Given the description of an element on the screen output the (x, y) to click on. 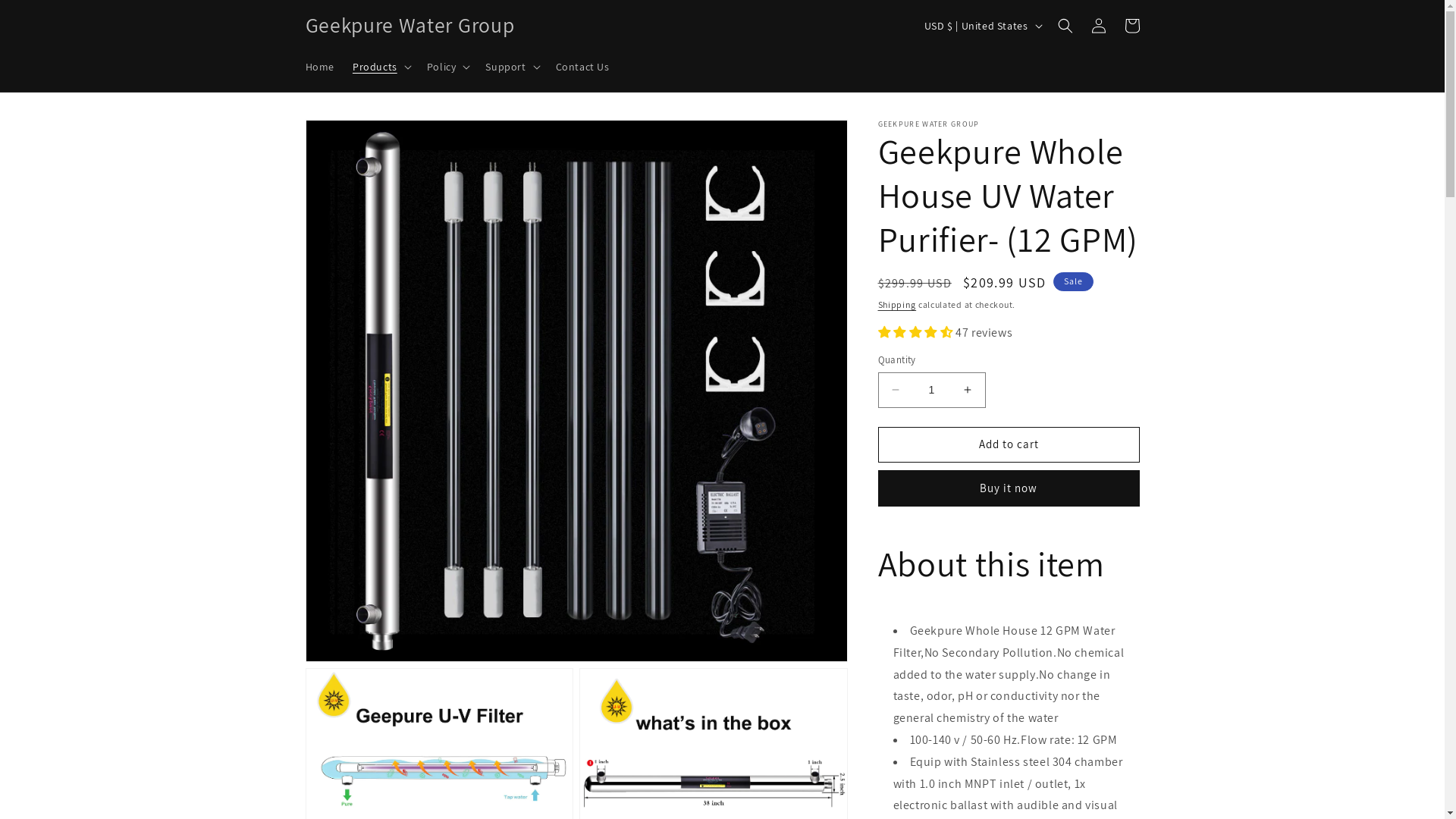
Geekpure Water Group Element type: text (409, 25)
Add to cart Element type: text (1008, 444)
Buy it now Element type: text (1008, 488)
Cart Element type: text (1131, 25)
Home Element type: text (318, 65)
USD $ | United States Element type: text (981, 25)
Skip to product information Element type: text (350, 136)
Log in Element type: text (1097, 25)
Contact Us Element type: text (582, 65)
Shipping Element type: text (897, 304)
